Given the description of an element on the screen output the (x, y) to click on. 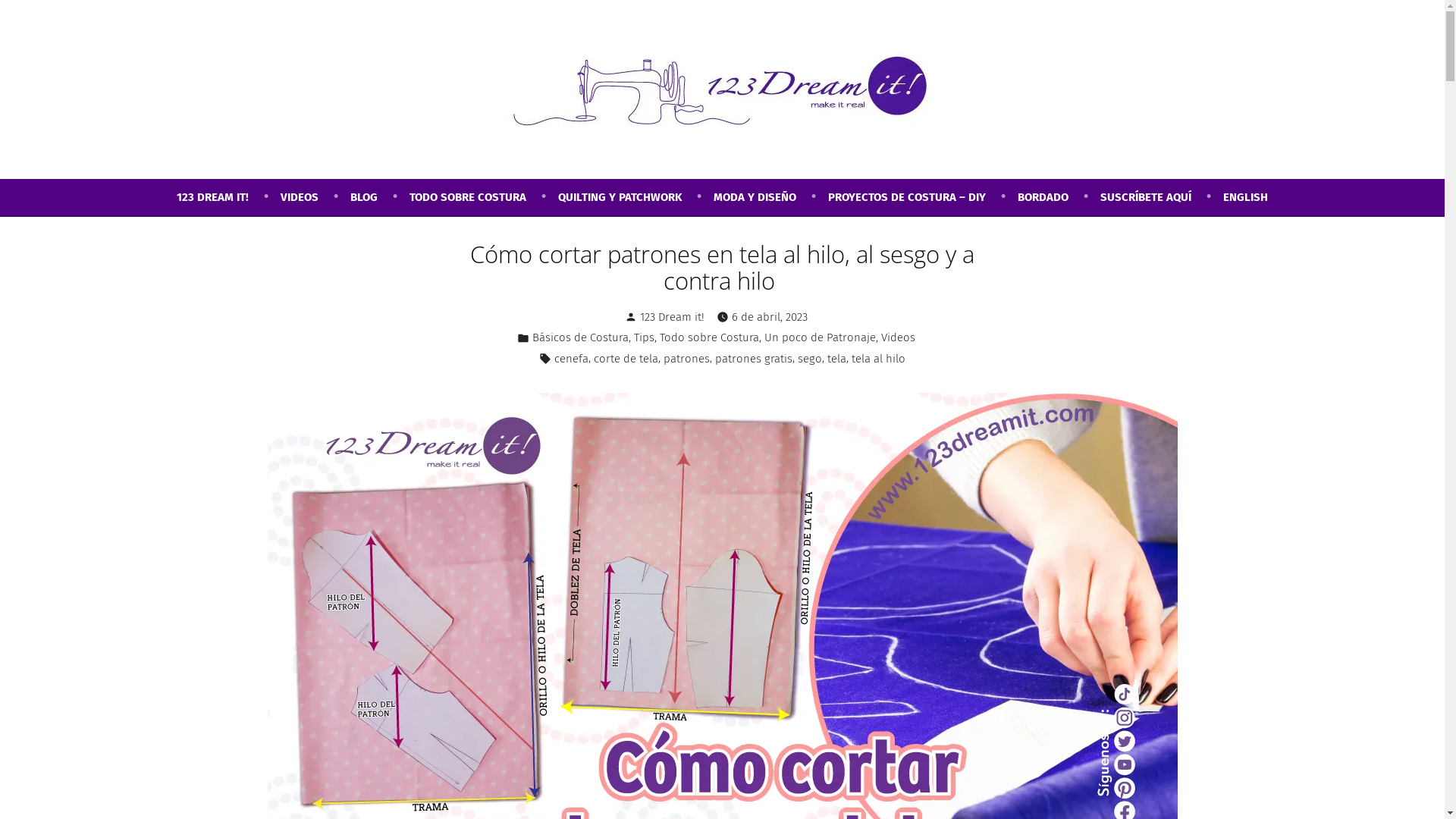
123 Dream it! Element type: text (672, 316)
123 DREAM IT! Element type: text (228, 196)
VIDEOS Element type: text (315, 196)
Videos Element type: text (898, 337)
QUILTING Y PATCHWORK Element type: text (635, 196)
sego Element type: text (809, 358)
TODO SOBRE COSTURA Element type: text (483, 196)
tela al hilo Element type: text (878, 358)
BORDADO Element type: text (1058, 196)
BLOG Element type: text (379, 196)
ENGLISH Element type: text (1245, 196)
Tips Element type: text (643, 337)
Todo sobre Costura Element type: text (709, 337)
patrones Element type: text (686, 358)
6 de abril, 2023 Element type: text (769, 317)
patrones gratis Element type: text (753, 358)
Un poco de Patronaje Element type: text (819, 337)
cenefa Element type: text (571, 358)
123 Dream it Blog de Costura Element type: text (185, 157)
corte de tela Element type: text (625, 358)
tela Element type: text (836, 358)
